Given the description of an element on the screen output the (x, y) to click on. 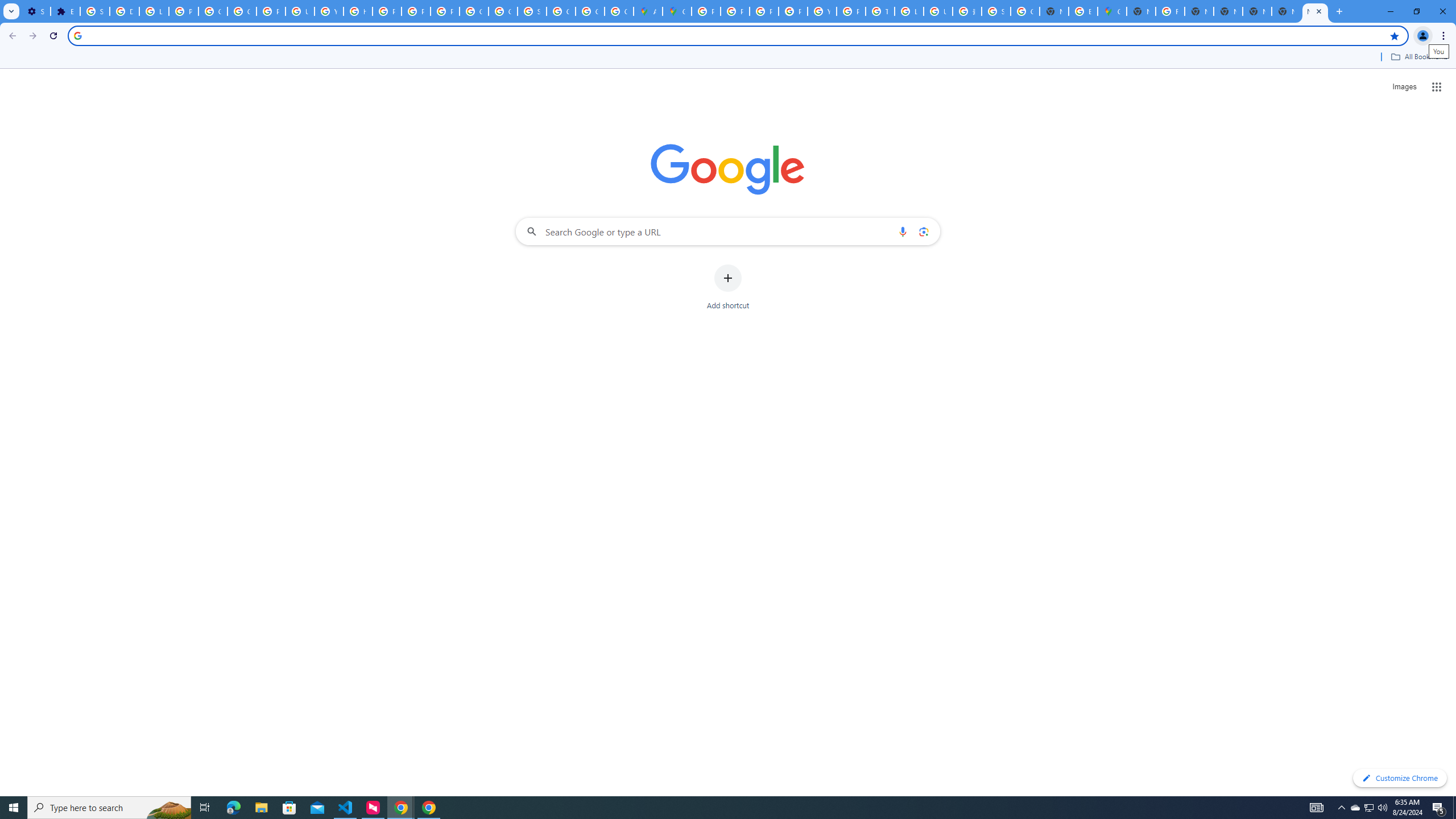
Settings - On startup (35, 11)
Search for Images  (1403, 87)
Privacy Help Center - Policies Help (763, 11)
Create your Google Account (619, 11)
Customize Chrome (1399, 778)
Add shortcut (727, 287)
Search Google or type a URL (727, 230)
YouTube (327, 11)
New Tab (1286, 11)
